Given the description of an element on the screen output the (x, y) to click on. 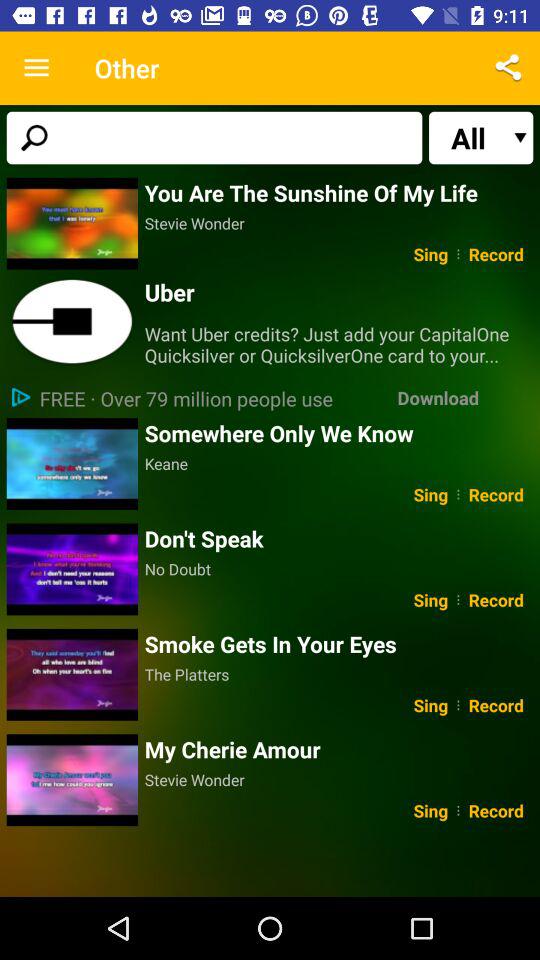
launch icon below the smoke gets in (338, 674)
